Given the description of an element on the screen output the (x, y) to click on. 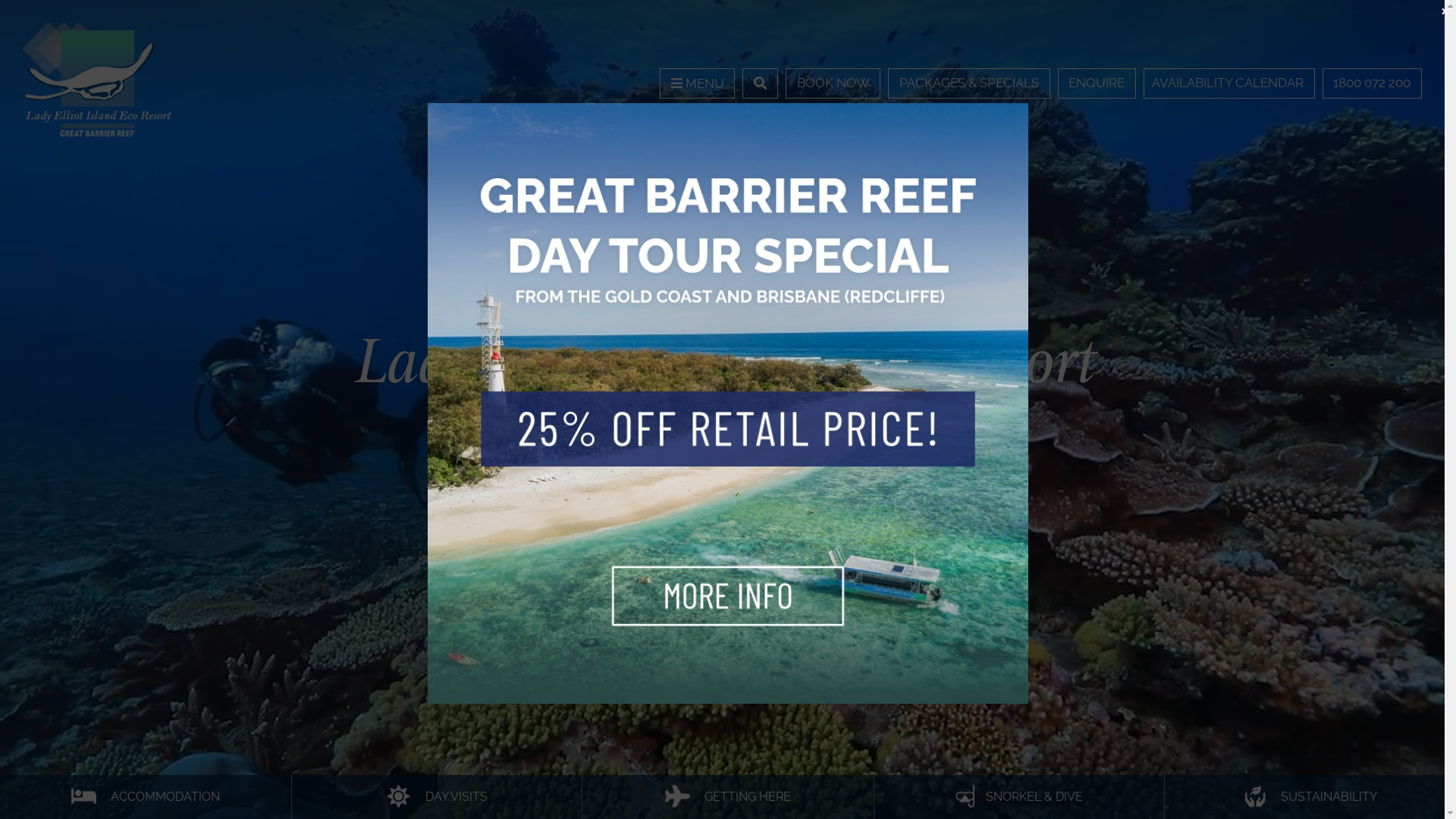
DAY VISITS Element type: text (436, 797)
SUSTAINABILITY Element type: text (1310, 797)
Lady Elliot Island Eco Resort Great Barrier Reef Element type: hover (98, 81)
AVAILABILITY CALENDAR Element type: text (1228, 83)
ENQUIRE Element type: text (1096, 83)
1800 072 200 Element type: text (1371, 83)
MENU Element type: text (696, 83)
PACKAGES & SPECIALS Element type: text (968, 83)
GETTING HERE Element type: text (727, 797)
SNORKEL & DIVE Element type: text (1018, 797)
BOOK NOW Element type: text (832, 83)
ACCOMMODATION Element type: text (145, 797)
